Given the description of an element on the screen output the (x, y) to click on. 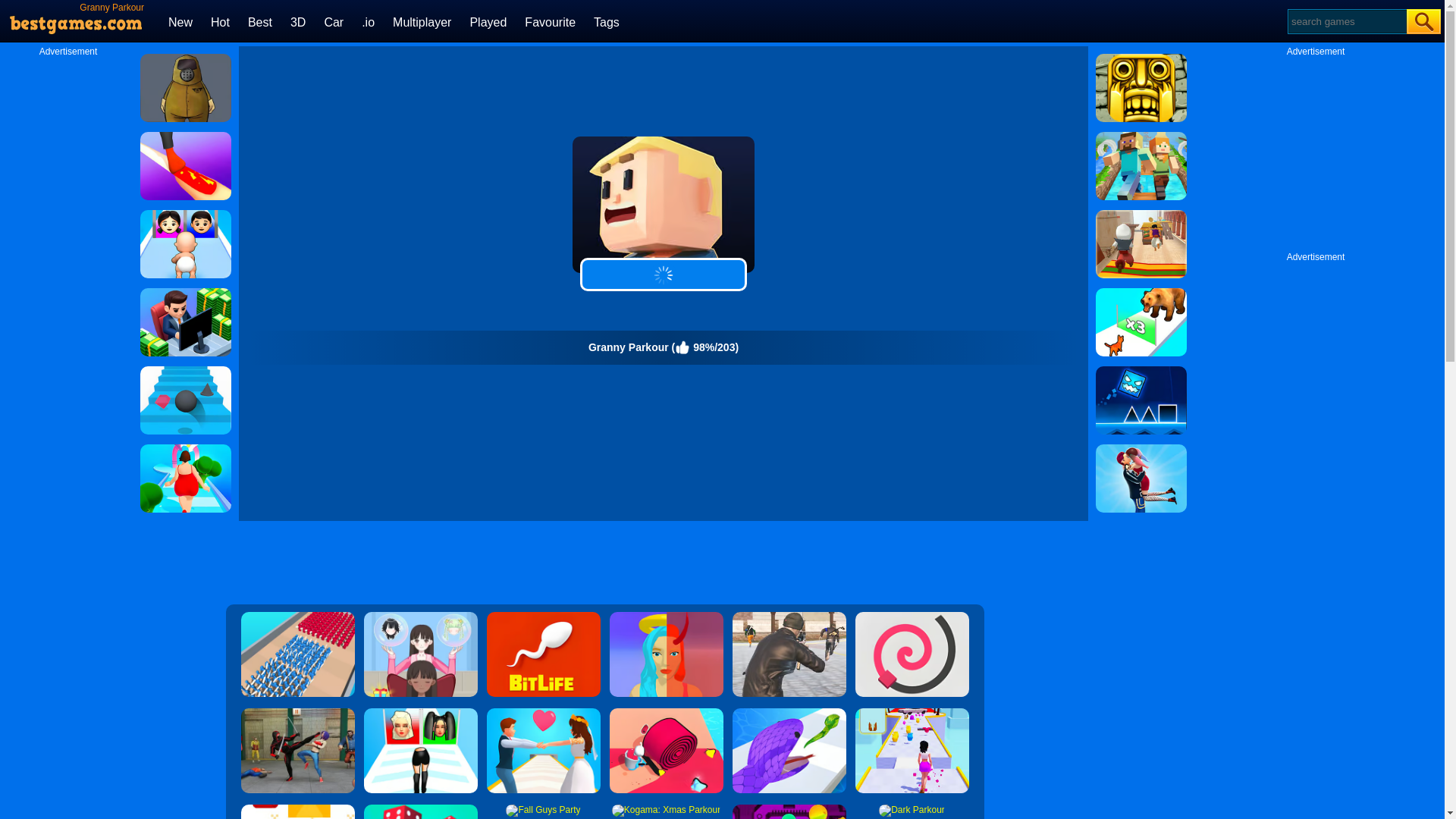
Played (487, 21)
Multiplayer (422, 21)
Car (333, 21)
Favourite (549, 21)
Best (259, 21)
.io (367, 21)
Tags (607, 21)
New (180, 21)
3D (297, 21)
Hot (220, 21)
